Given the description of an element on the screen output the (x, y) to click on. 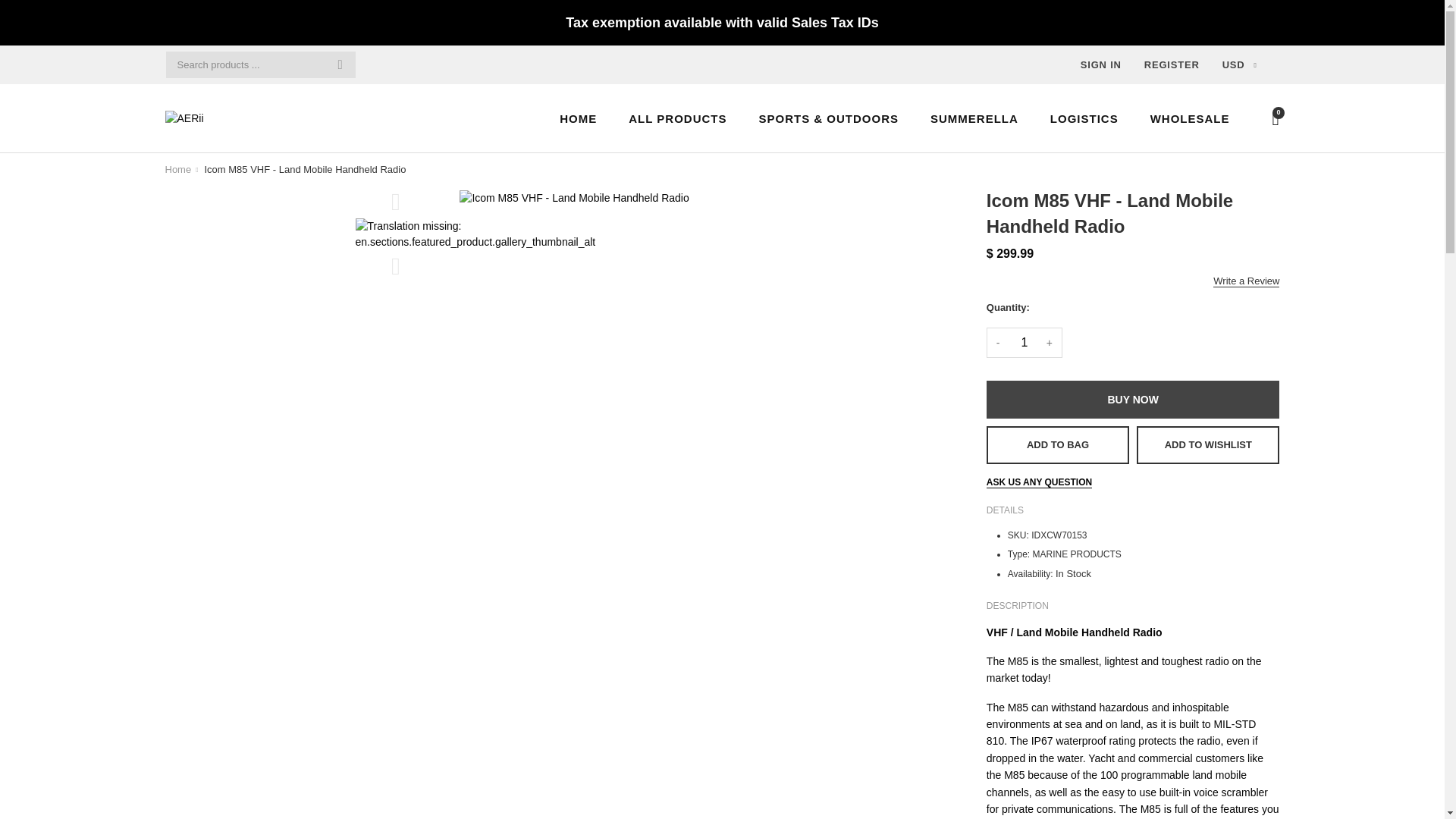
HOME (577, 117)
Add to Wishlist (1208, 444)
Icom M85 VHF - Land Mobile Handheld Radio (304, 169)
SIGN IN (1100, 64)
1 (1024, 342)
AERii (178, 170)
REGISTER (1171, 64)
ALL PRODUCTS (676, 117)
